Given the description of an element on the screen output the (x, y) to click on. 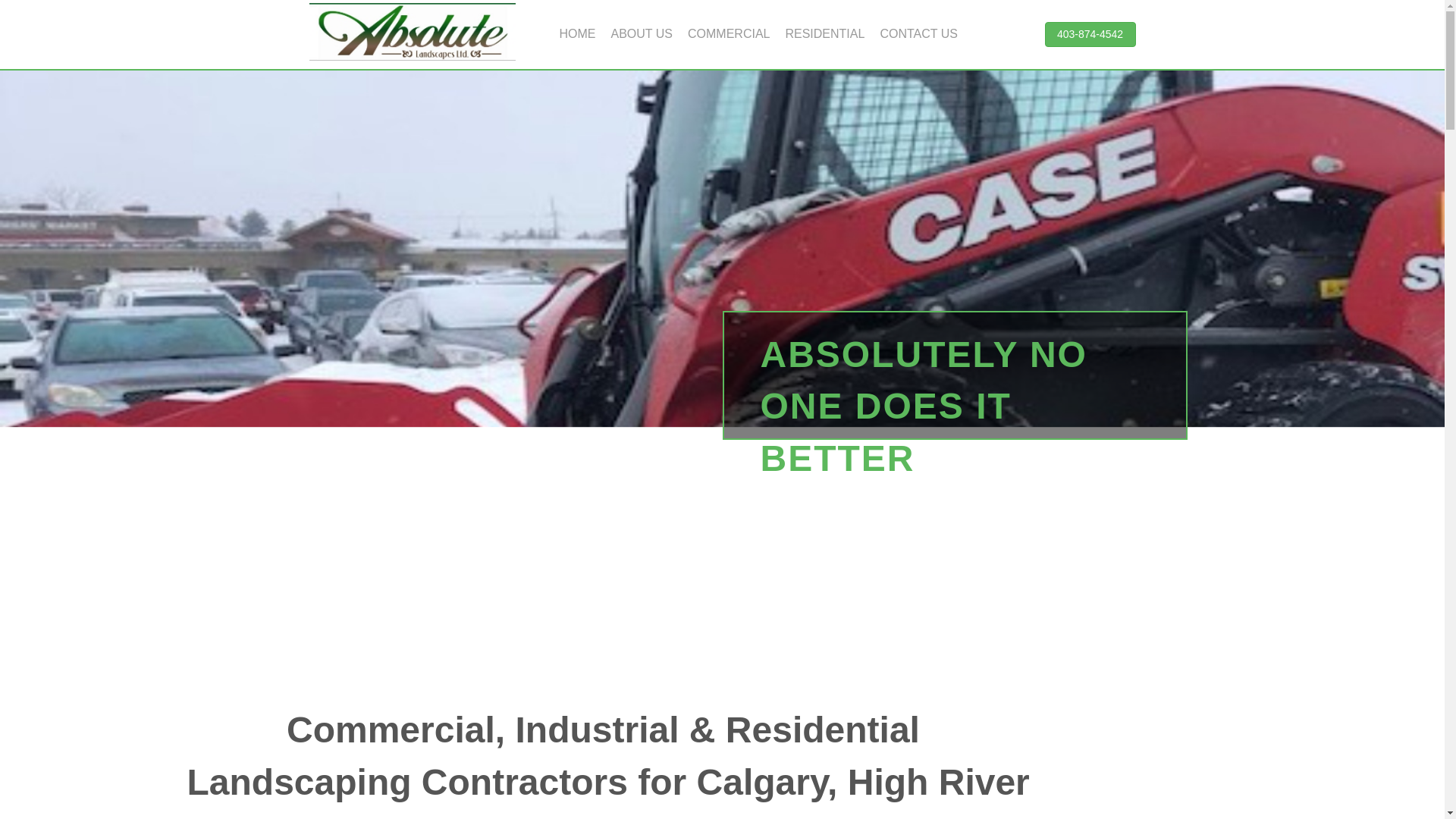
CONTACT US (918, 33)
RESIDENTIAL (824, 33)
COMMERCIAL (728, 33)
403-874-4542 (1090, 34)
ABOUT US (642, 33)
